Given the description of an element on the screen output the (x, y) to click on. 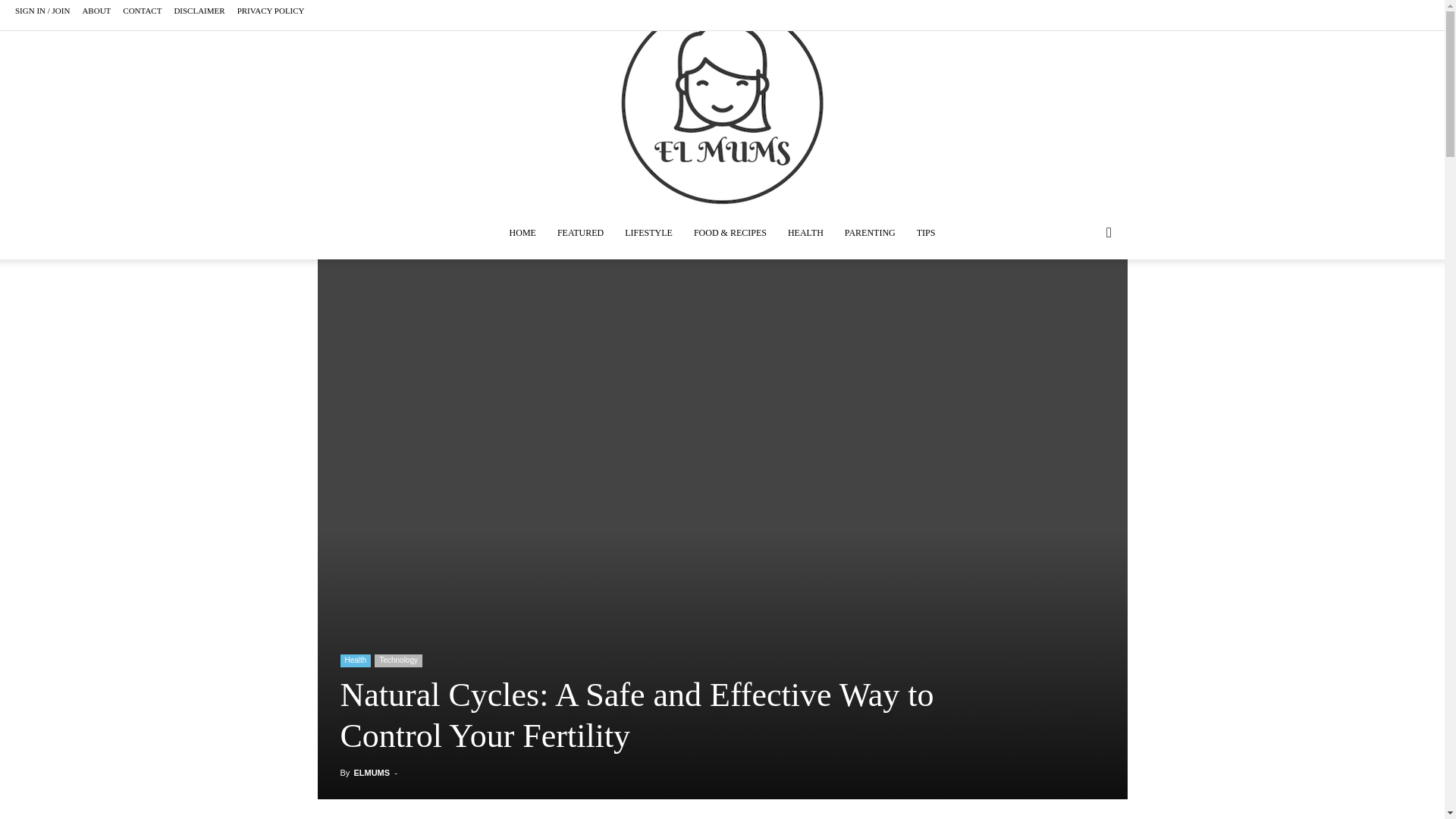
ABOUT (95, 10)
DISCLAIMER (198, 10)
CONTACT (141, 10)
